Given the description of an element on the screen output the (x, y) to click on. 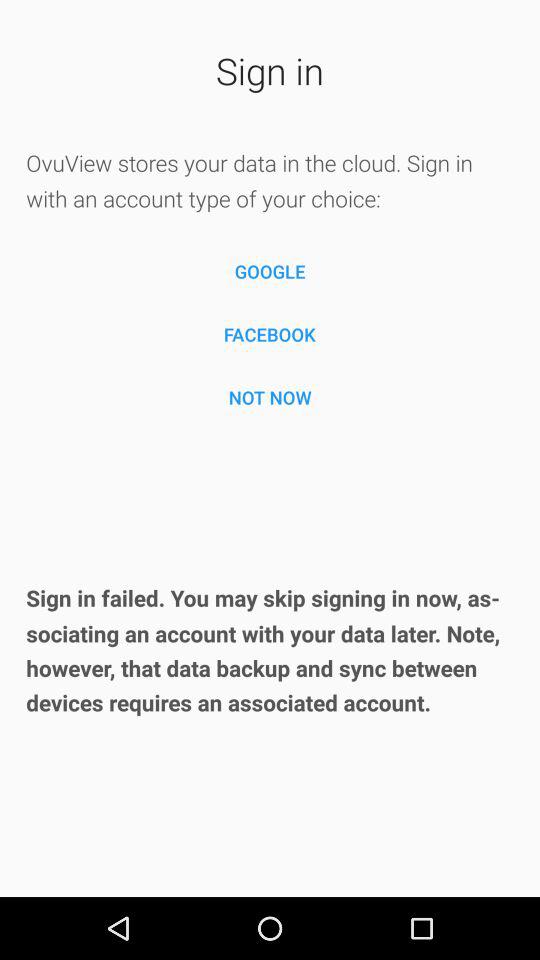
jump to facebook item (269, 334)
